Given the description of an element on the screen output the (x, y) to click on. 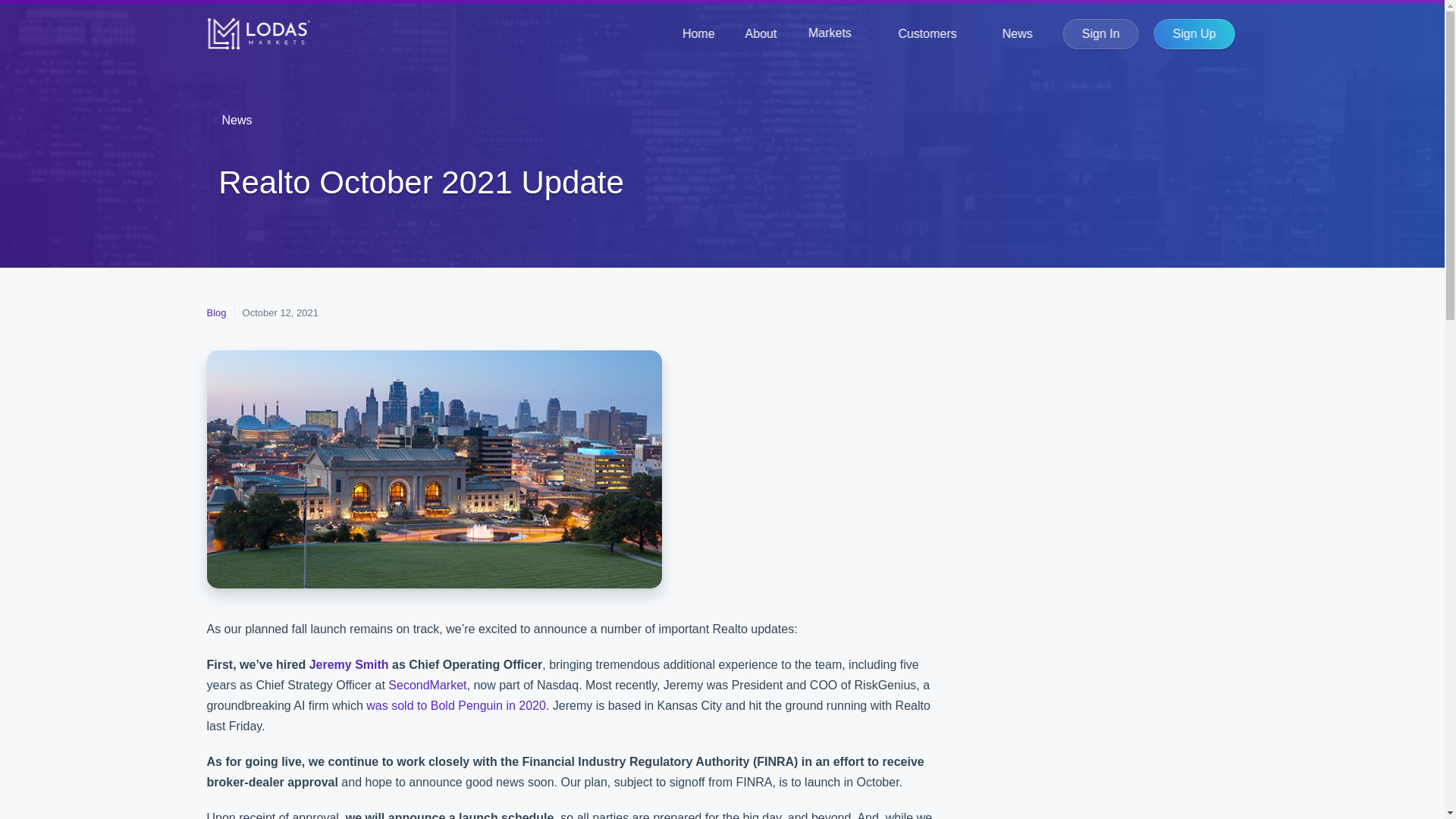
SecondMarket (426, 684)
Jeremy Smith (348, 664)
Sign Up (1194, 33)
Home (698, 33)
News (1017, 33)
Sign In (1100, 33)
About (761, 33)
News (237, 119)
was sold to Bold Penguin in 2020 (456, 705)
Blog (215, 312)
